Given the description of an element on the screen output the (x, y) to click on. 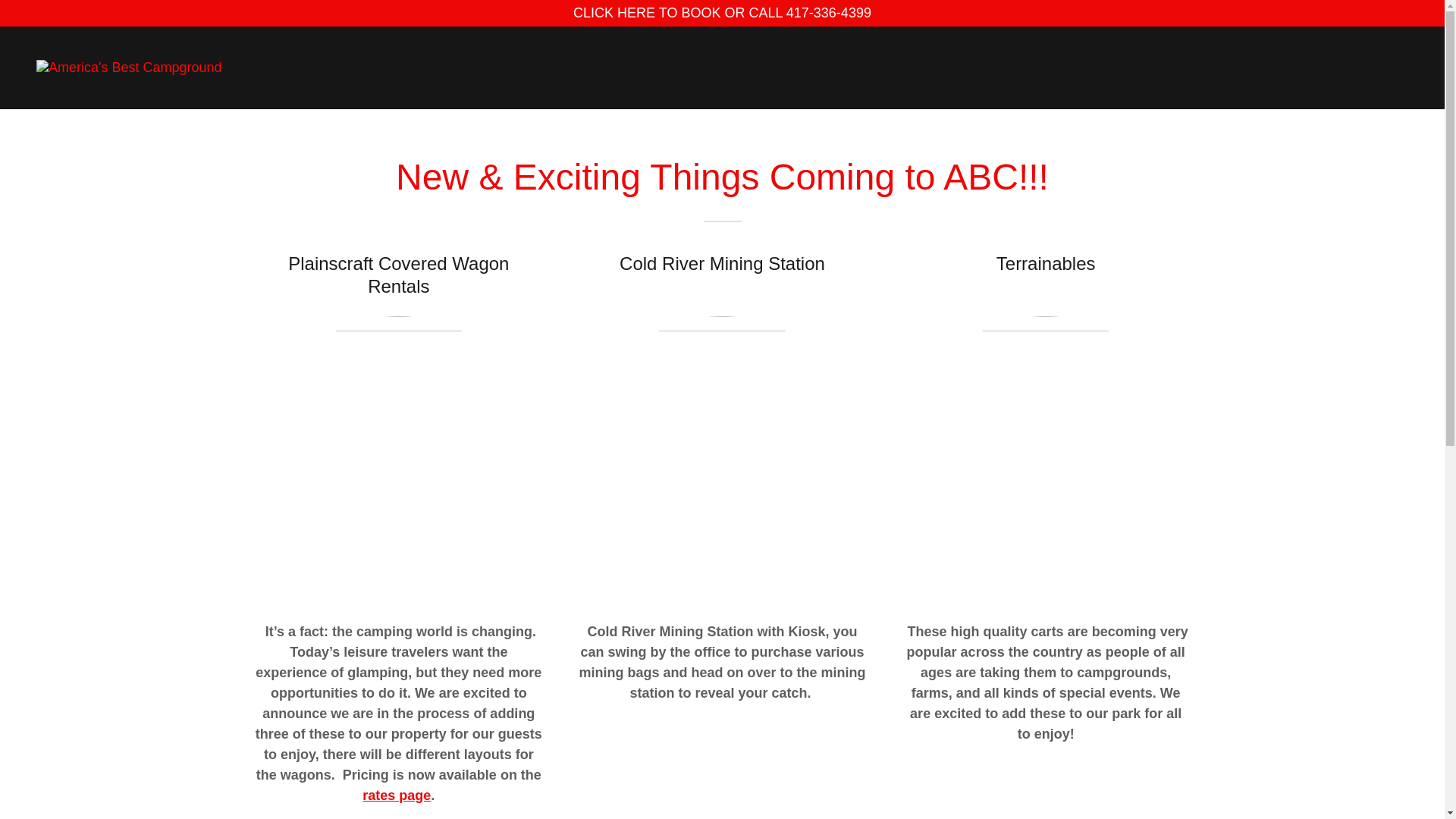
America's Best Campground (129, 67)
